Given the description of an element on the screen output the (x, y) to click on. 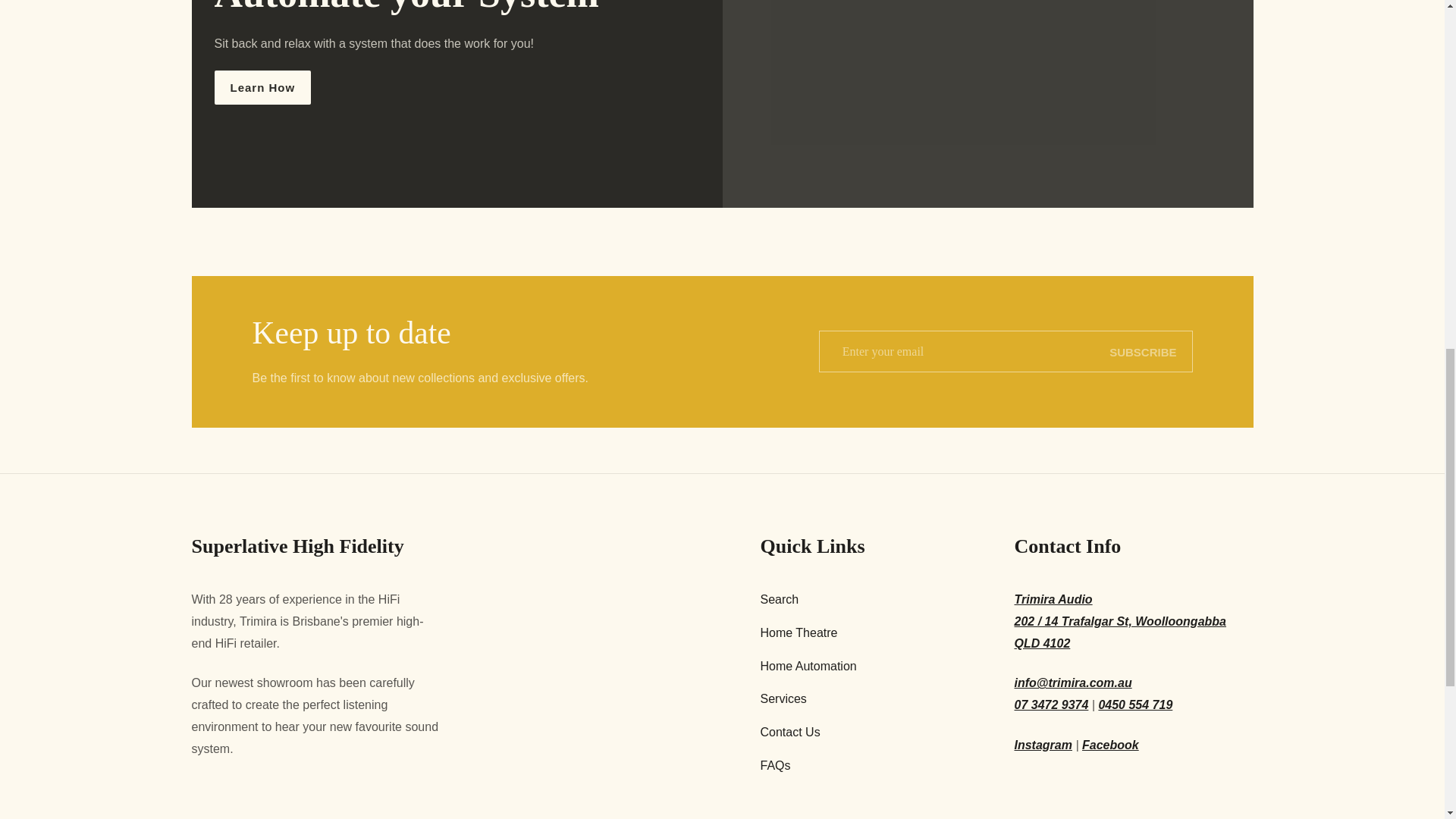
tel: 045-055-4719 (1134, 705)
Link to Trimira Audio Brisbane on Google Maps (1133, 621)
tel: 073-472-9374 (1051, 705)
